Given the description of an element on the screen output the (x, y) to click on. 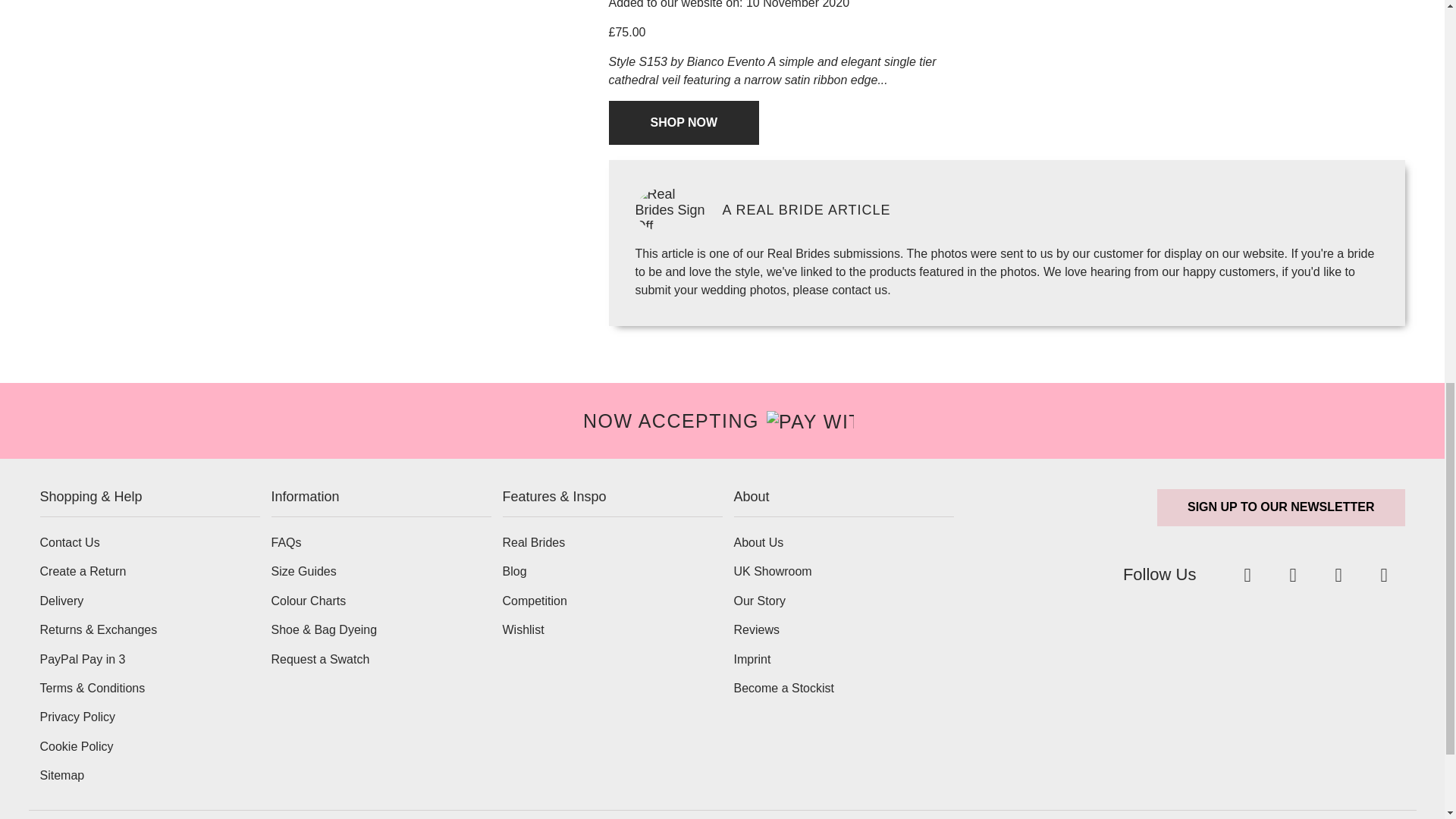
Find us on pinterest (1384, 575)
Find us on twitter (1246, 575)
Find us on facebook (1292, 575)
Find us on instagram (1337, 575)
